Given the description of an element on the screen output the (x, y) to click on. 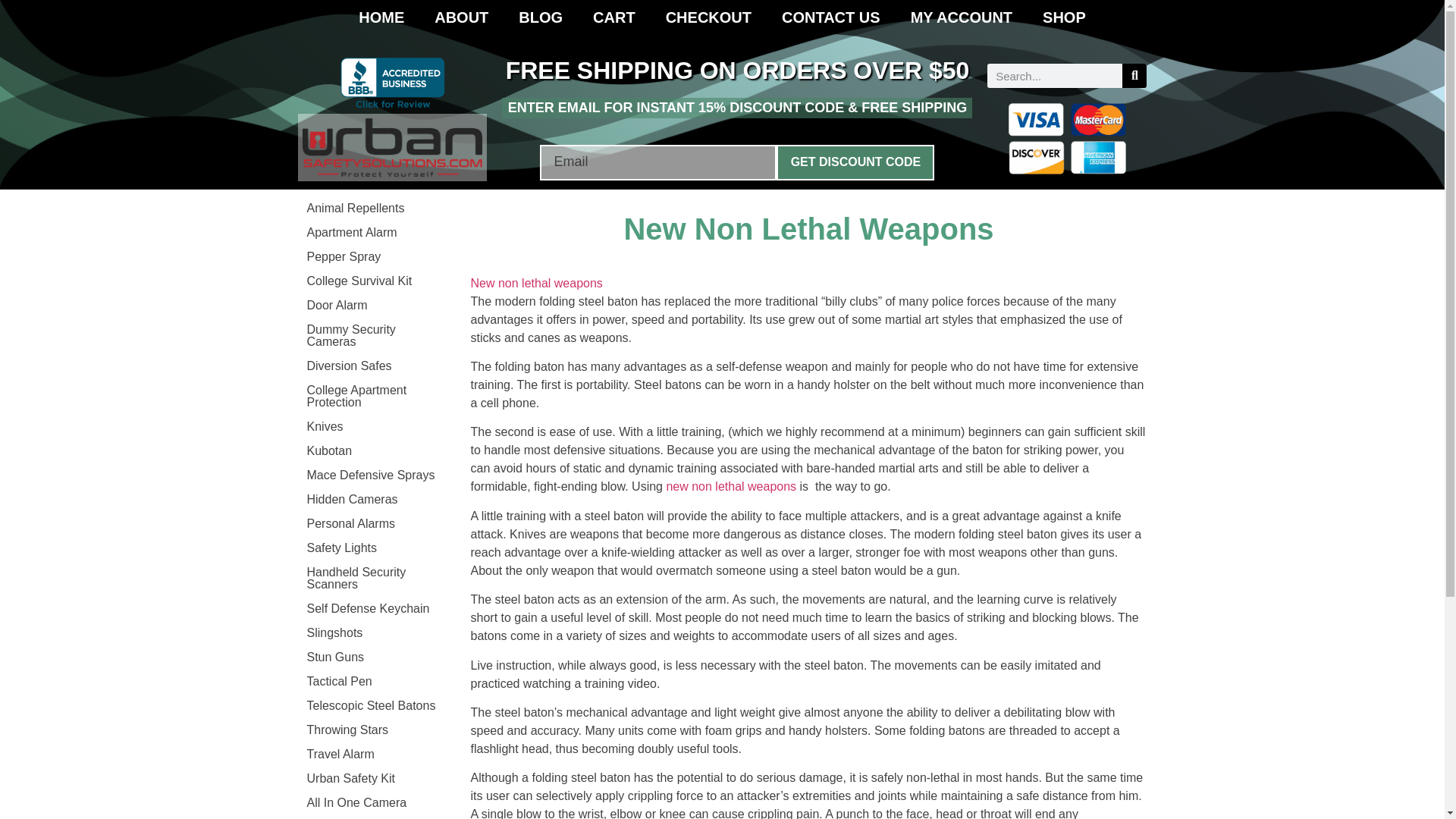
GET DISCOUNT CODE (855, 162)
Kubotan (375, 450)
Handheld Security Scanners (375, 578)
BLOG (540, 17)
Diversion Safes (375, 365)
Self Defense Keychain (375, 608)
Door Alarm (375, 305)
Slingshots (375, 632)
CONTACT US (831, 17)
SHOP (1063, 17)
